Given the description of an element on the screen output the (x, y) to click on. 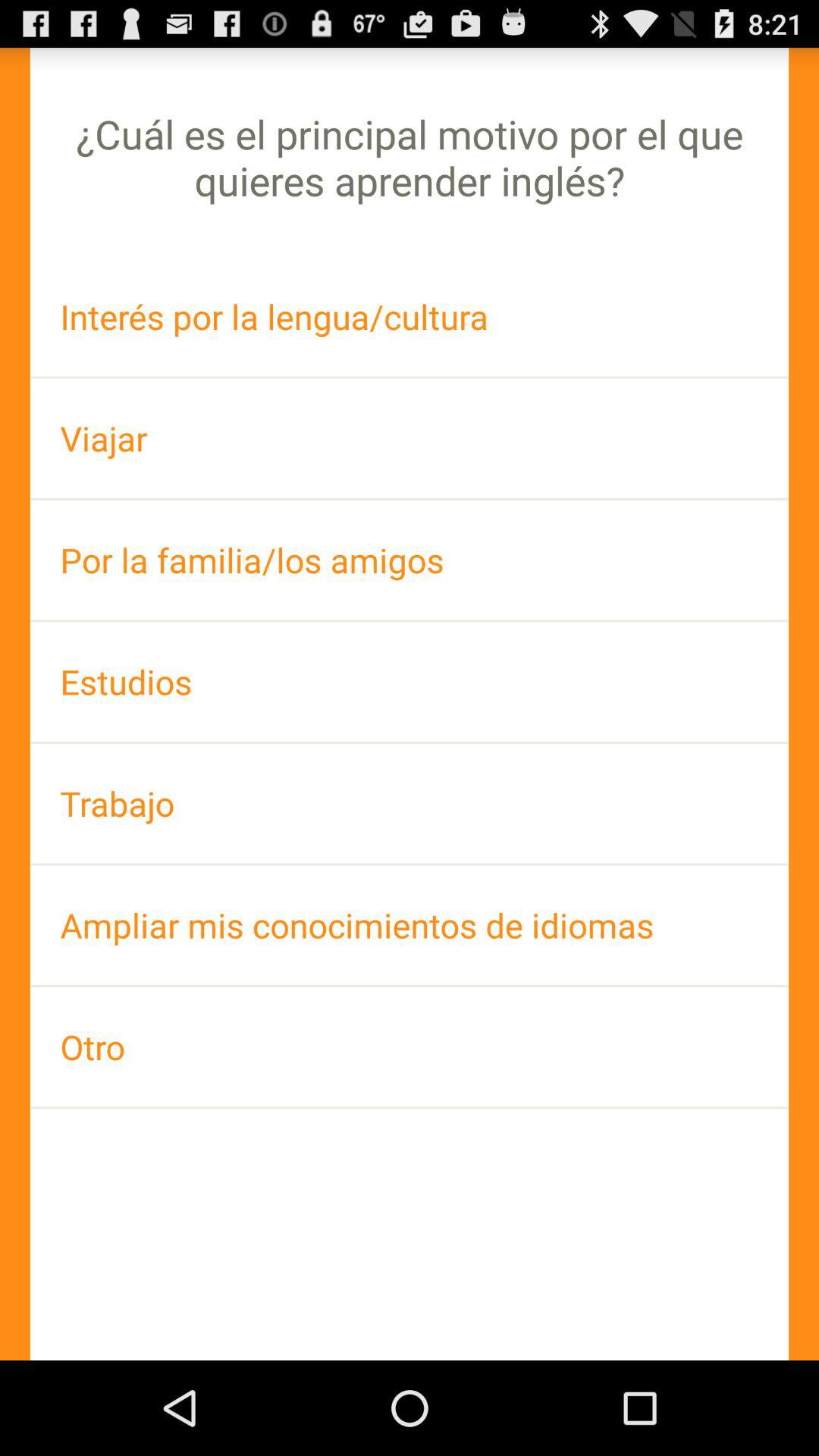
jump until otro (409, 1046)
